Given the description of an element on the screen output the (x, y) to click on. 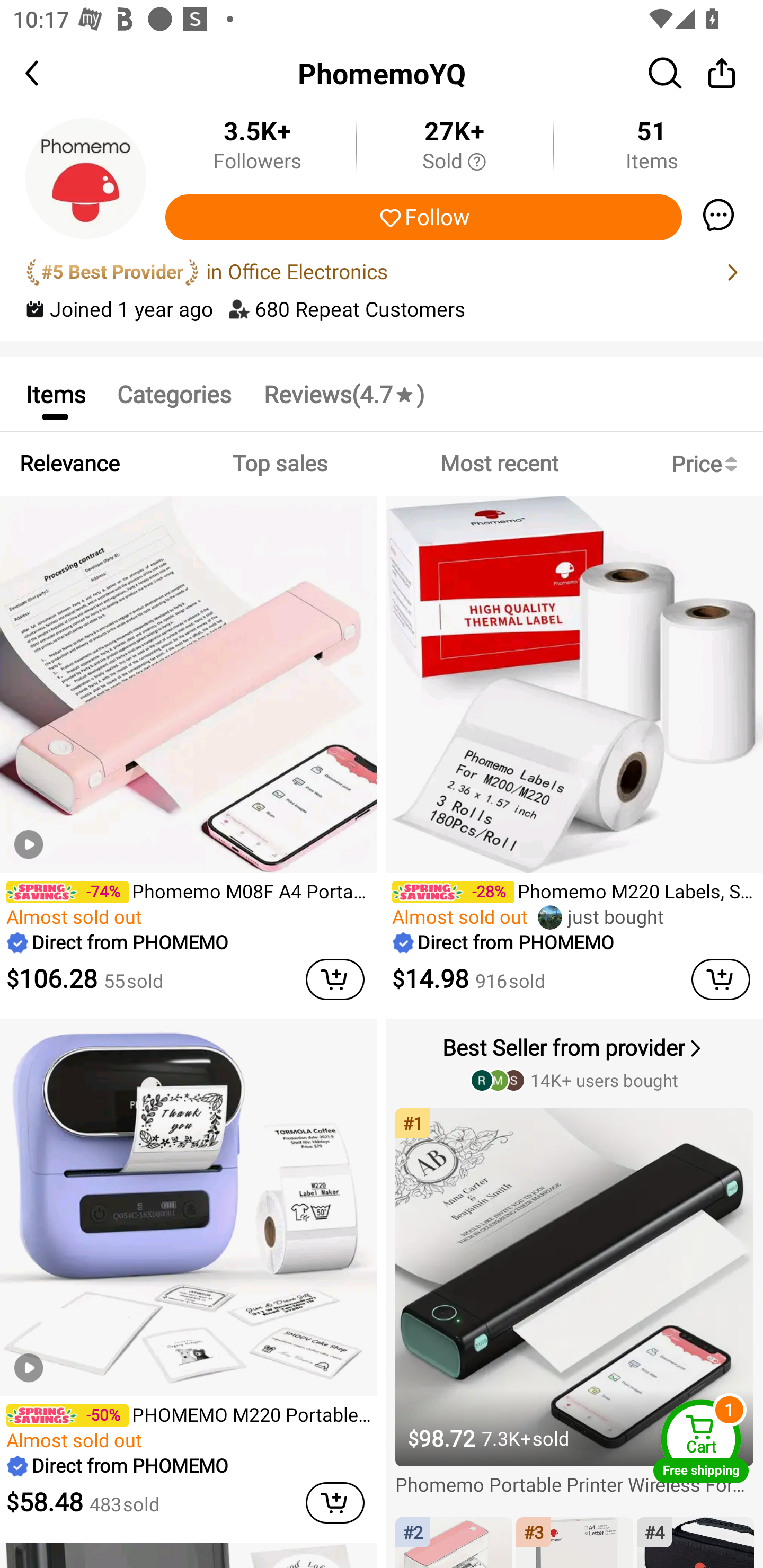
back (47, 72)
share (721, 72)
Sold (453, 161)
#5 Best Provider in Office Electronics (381, 272)
Items (55, 393)
Categories (174, 393)
Reviews(4.7 ) (343, 393)
Relevance (69, 463)
Top sales (279, 463)
Most recent (498, 463)
Price (707, 463)
cart delete (334, 979)
cart delete (720, 979)
Best Seller from provider 14K+ users bought (576, 1061)
Cart Free shipping Cart (701, 1440)
cart delete (334, 1502)
